Given the description of an element on the screen output the (x, y) to click on. 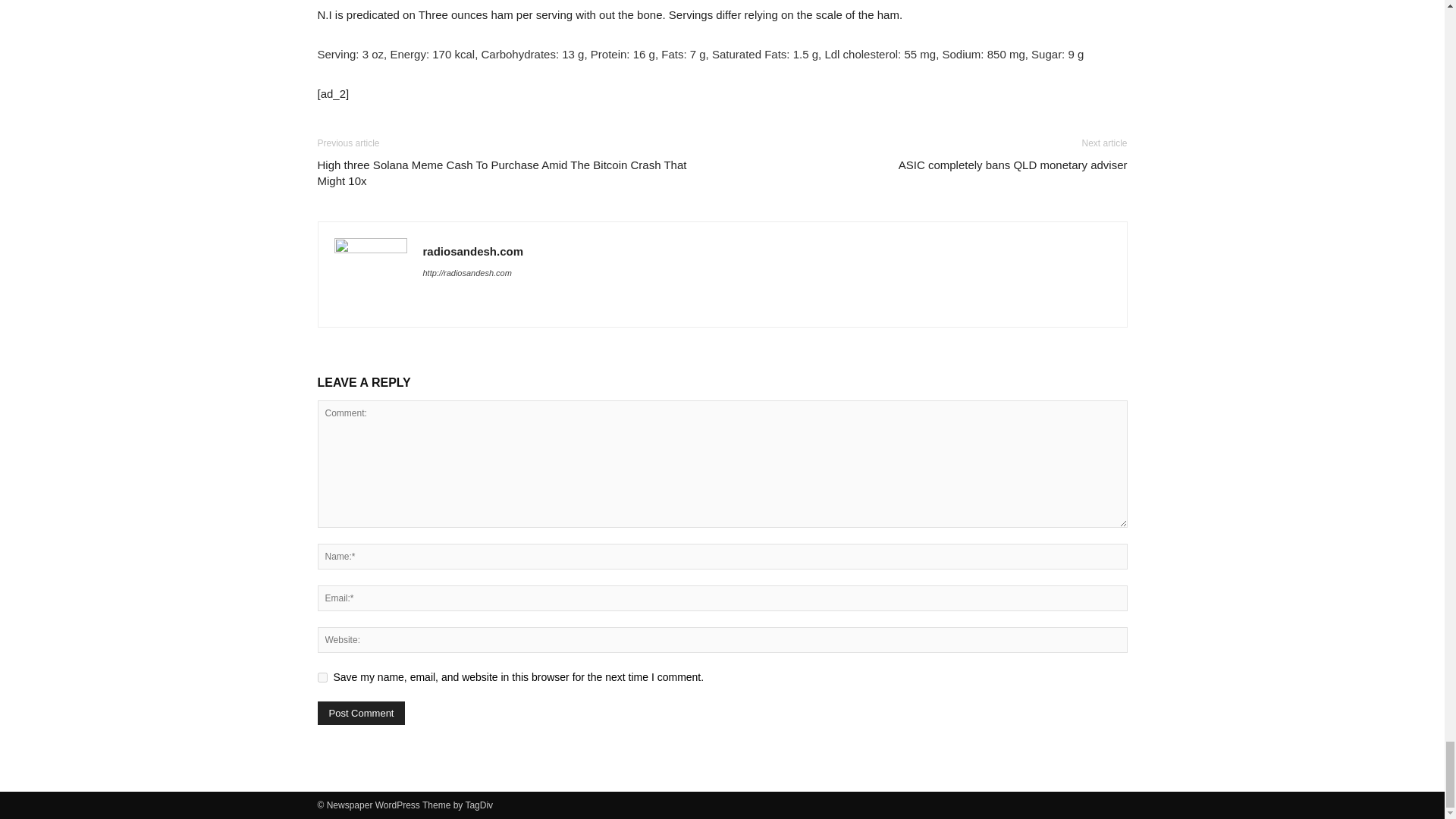
Post Comment (360, 712)
radiosandesh.com (473, 250)
Post Comment (360, 712)
ASIC completely bans QLD monetary adviser (1012, 164)
yes (321, 677)
